Given the description of an element on the screen output the (x, y) to click on. 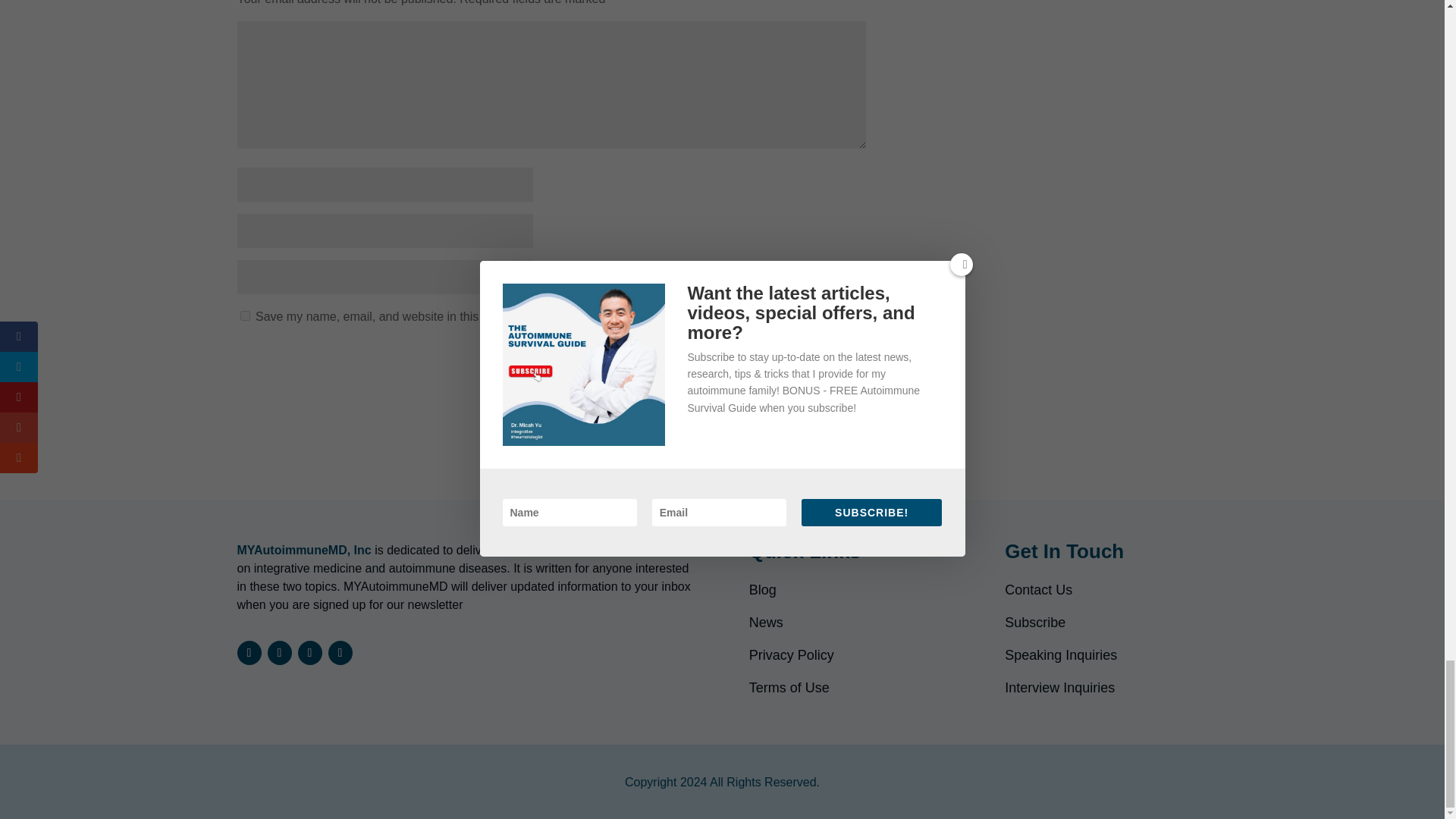
Follow on TikTok (339, 652)
Follow on Youtube (278, 652)
Follow on Instagram (247, 652)
Follow on Facebook (309, 652)
yes (244, 315)
